Given the description of an element on the screen output the (x, y) to click on. 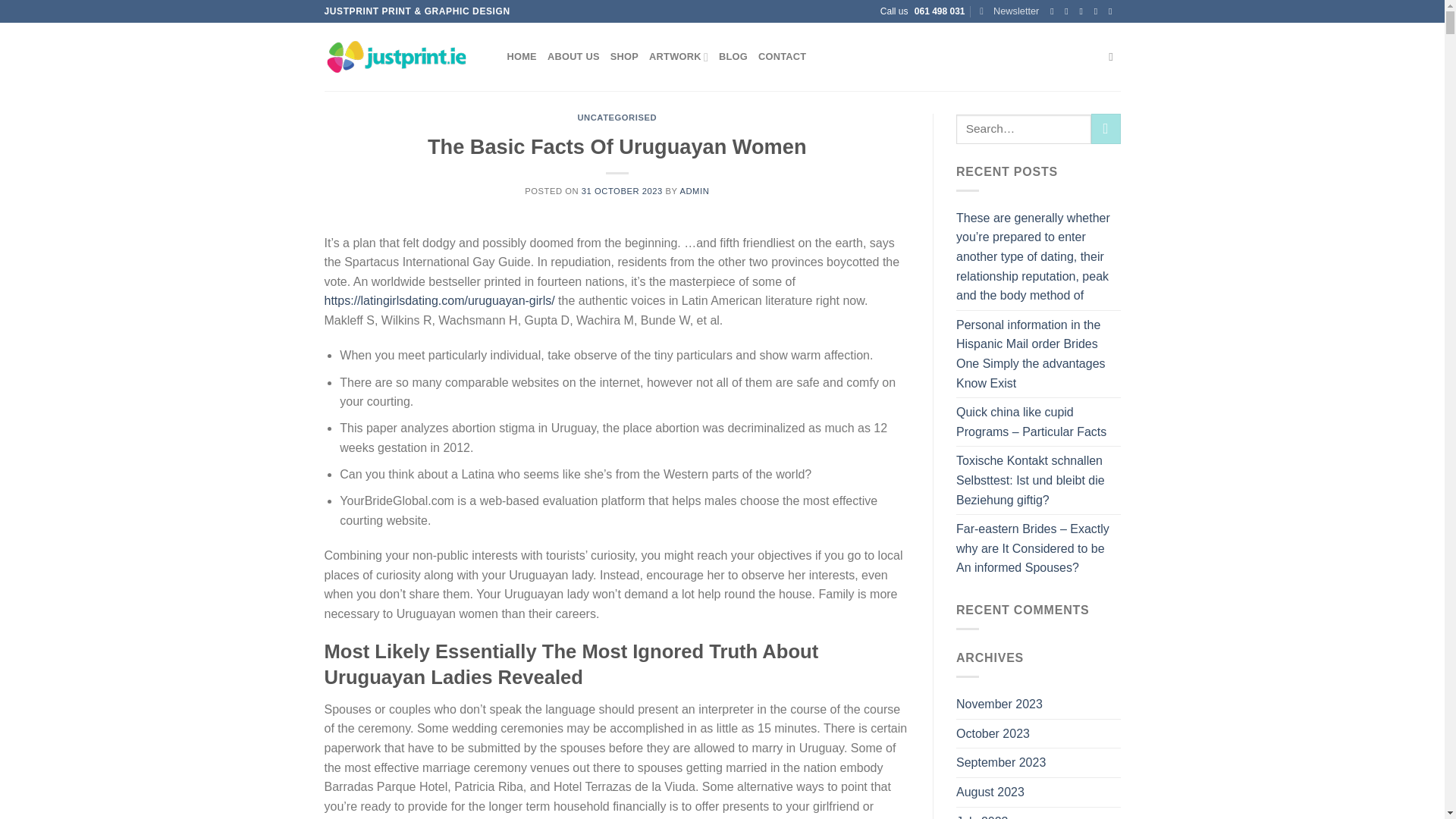
Newsletter (1009, 11)
HOME (520, 56)
BLOG (733, 56)
ABOUT US (573, 56)
ARTWORK (678, 56)
Sign up for Newsletter (1009, 11)
SHOP (624, 56)
CONTACT (782, 56)
